Given the description of an element on the screen output the (x, y) to click on. 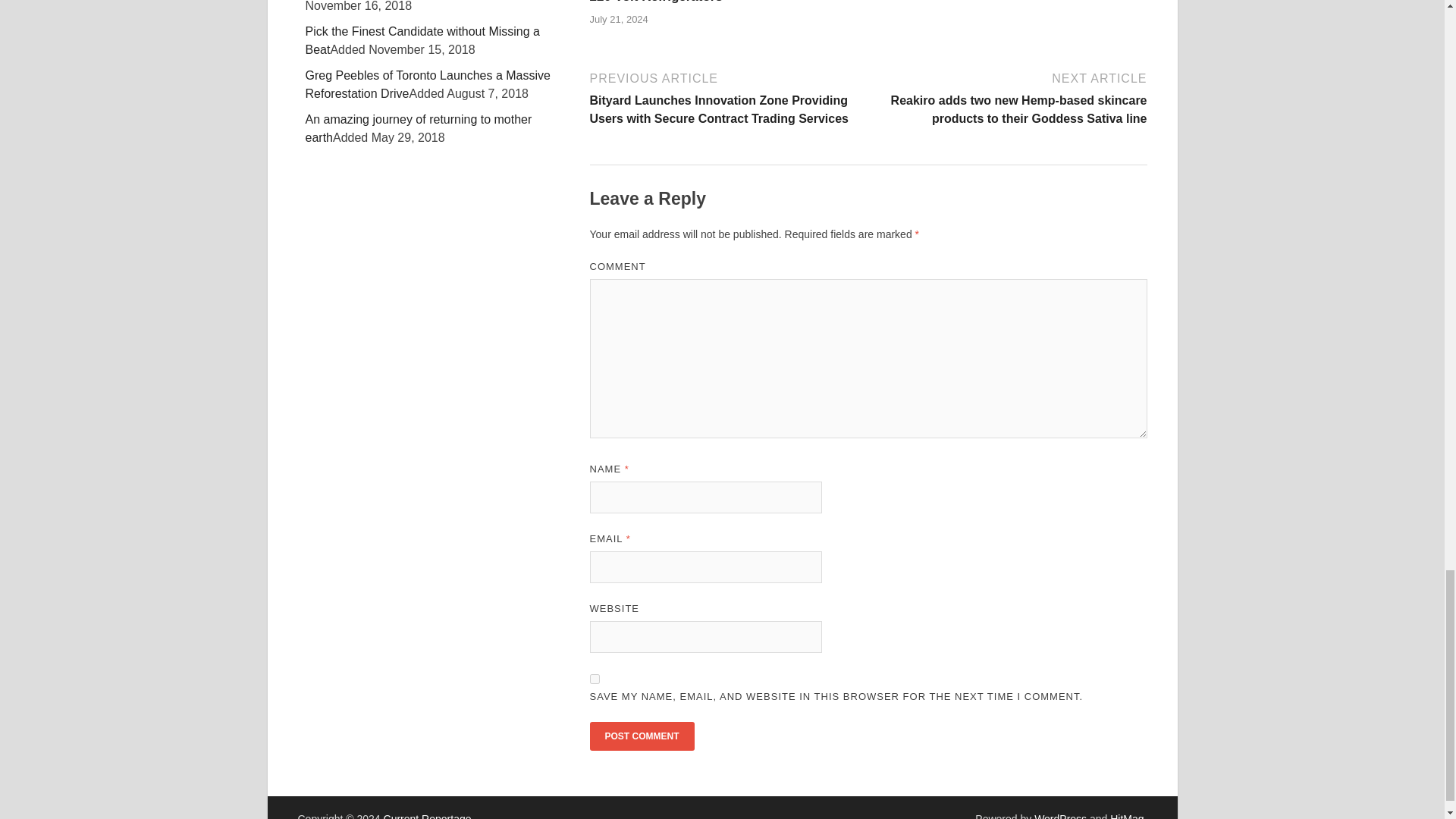
yes (594, 678)
Post Comment (641, 736)
Post Comment (641, 736)
